Given the description of an element on the screen output the (x, y) to click on. 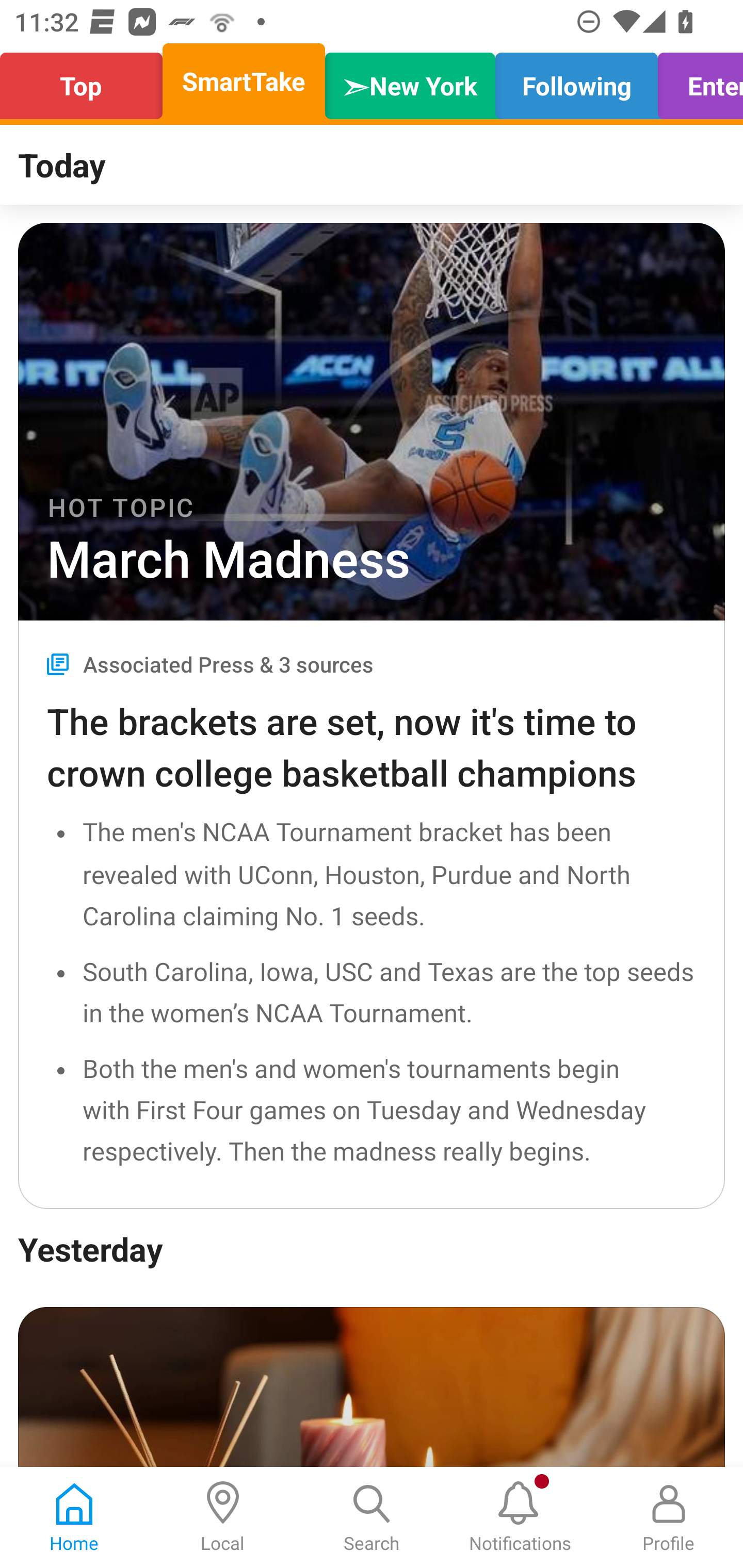
Top (86, 81)
SmartTake (243, 81)
➣New York (409, 81)
Following (576, 81)
Local (222, 1517)
Search (371, 1517)
Notifications, New notification Notifications (519, 1517)
Profile (668, 1517)
